Given the description of an element on the screen output the (x, y) to click on. 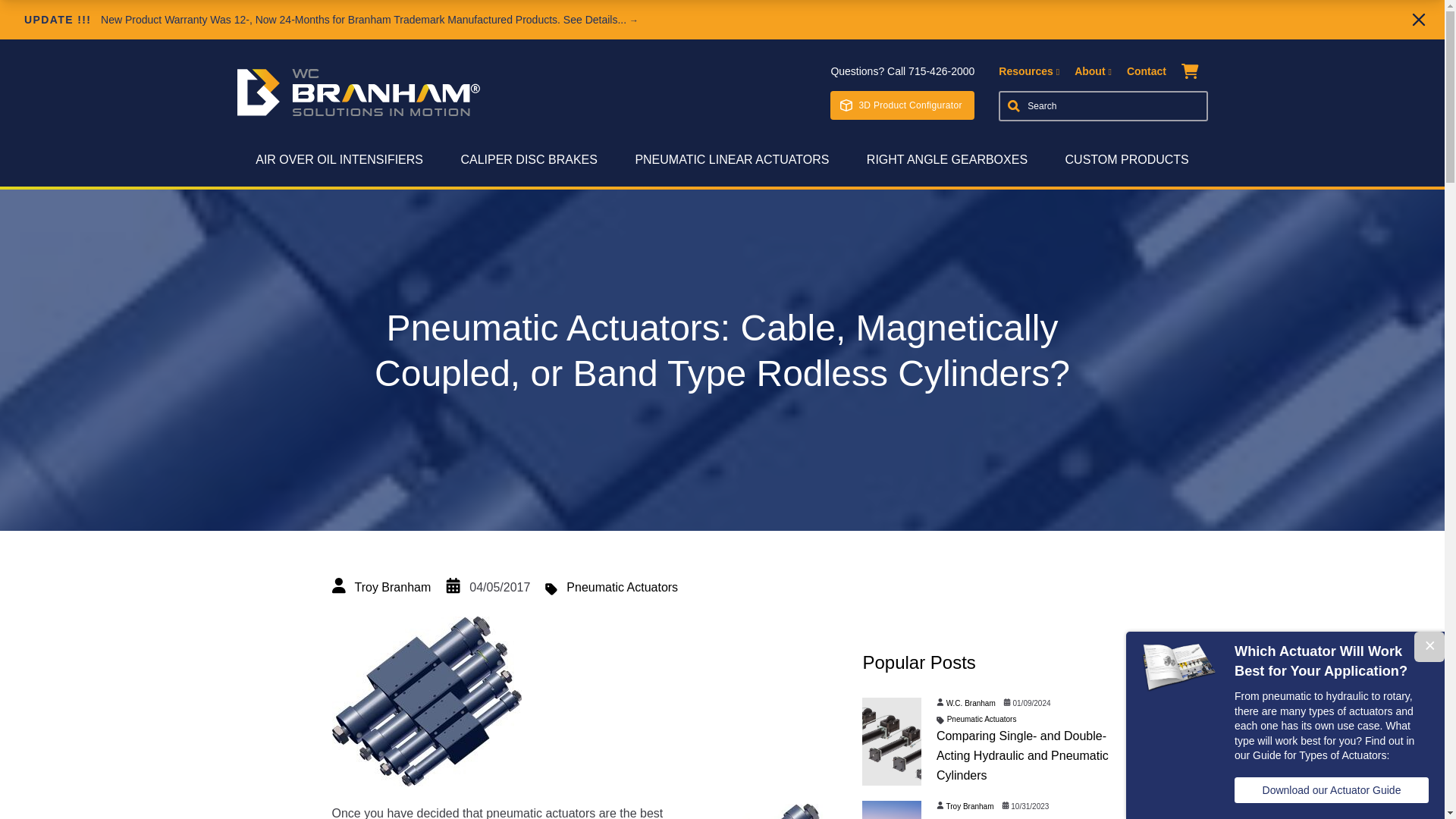
Resources (1028, 70)
3D Product Configurator (901, 104)
Questions? Call 715-426-2000 (901, 70)
W.C. Branham Logo (357, 92)
Contact (1146, 70)
About (1093, 70)
pneumatic actuators (762, 811)
